Given the description of an element on the screen output the (x, y) to click on. 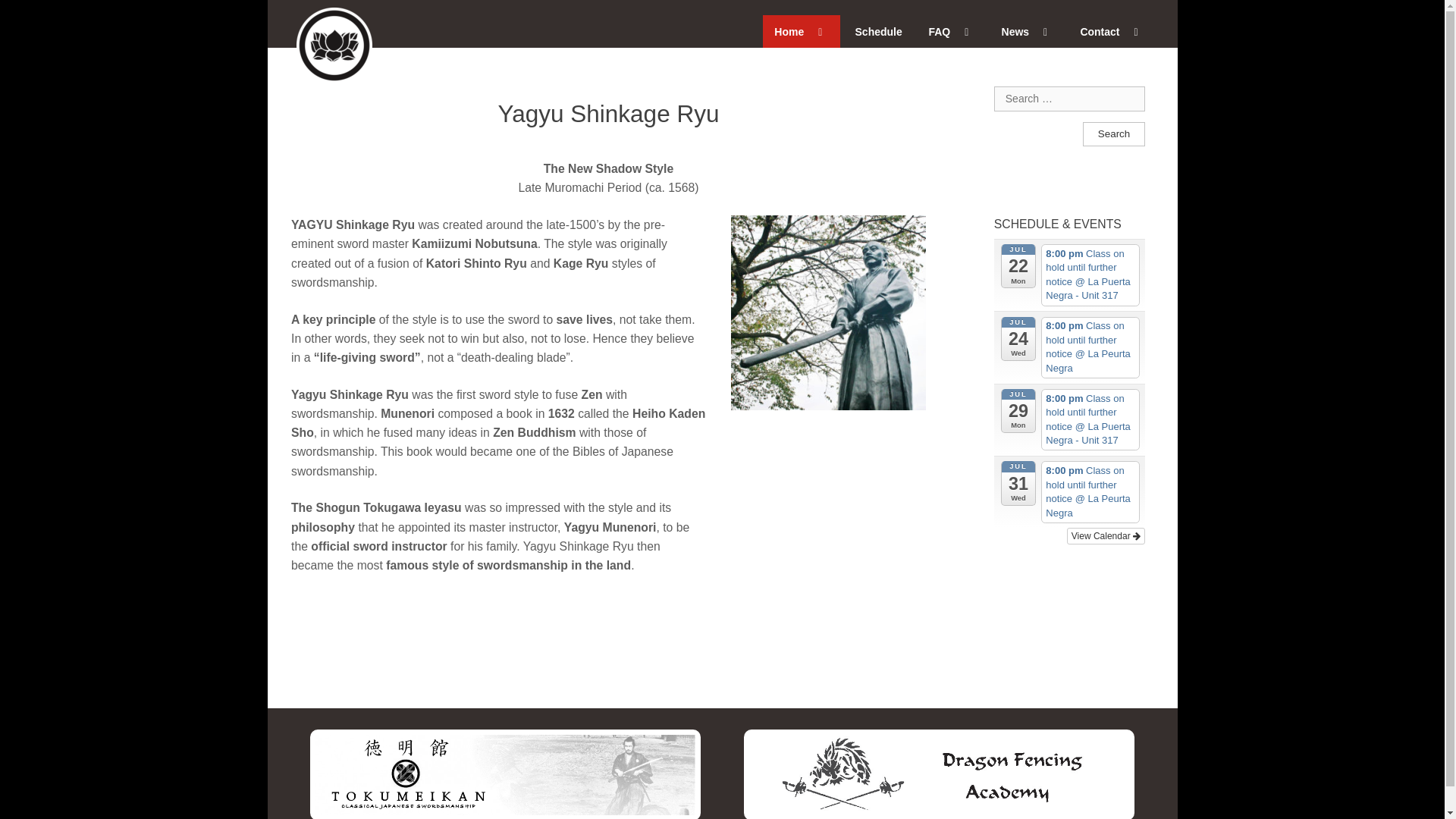
Search (1113, 134)
View Calendar (1105, 535)
expand child menu (1045, 32)
Search (1113, 134)
expand child menu (1136, 32)
Contact (1112, 31)
News (1027, 31)
expand child menu (965, 32)
expand child menu (820, 32)
Schedule (878, 31)
FAQ (952, 31)
Oakville Kenjutsu (308, 23)
Search (1113, 134)
Home (801, 31)
